Given the description of an element on the screen output the (x, y) to click on. 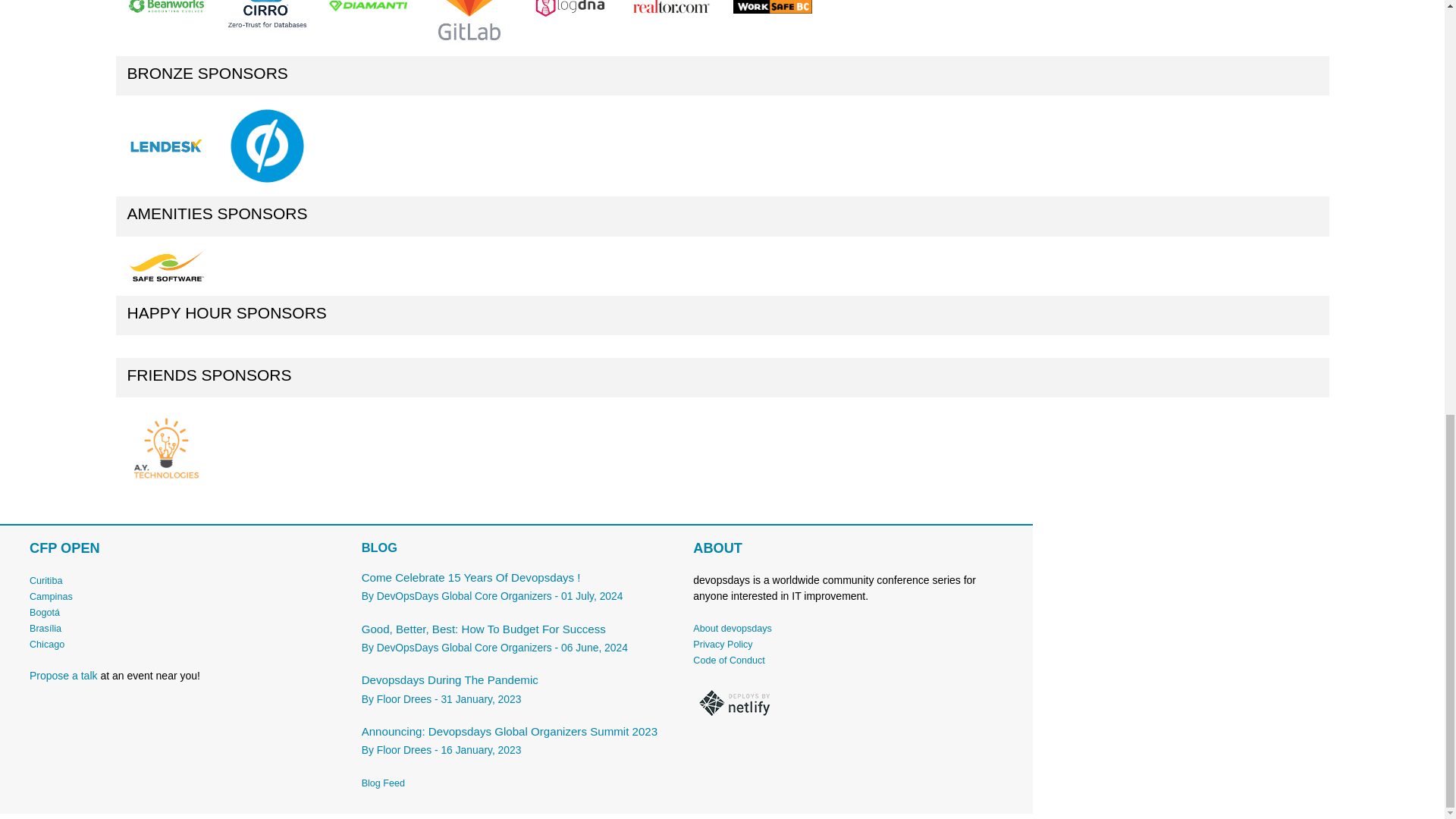
worksafebc (771, 6)
Diamanti (368, 6)
GitLab (468, 22)
Move Canada (670, 6)
Cirro (266, 13)
Beanworks (166, 7)
LogDNA (570, 22)
